Given the description of an element on the screen output the (x, y) to click on. 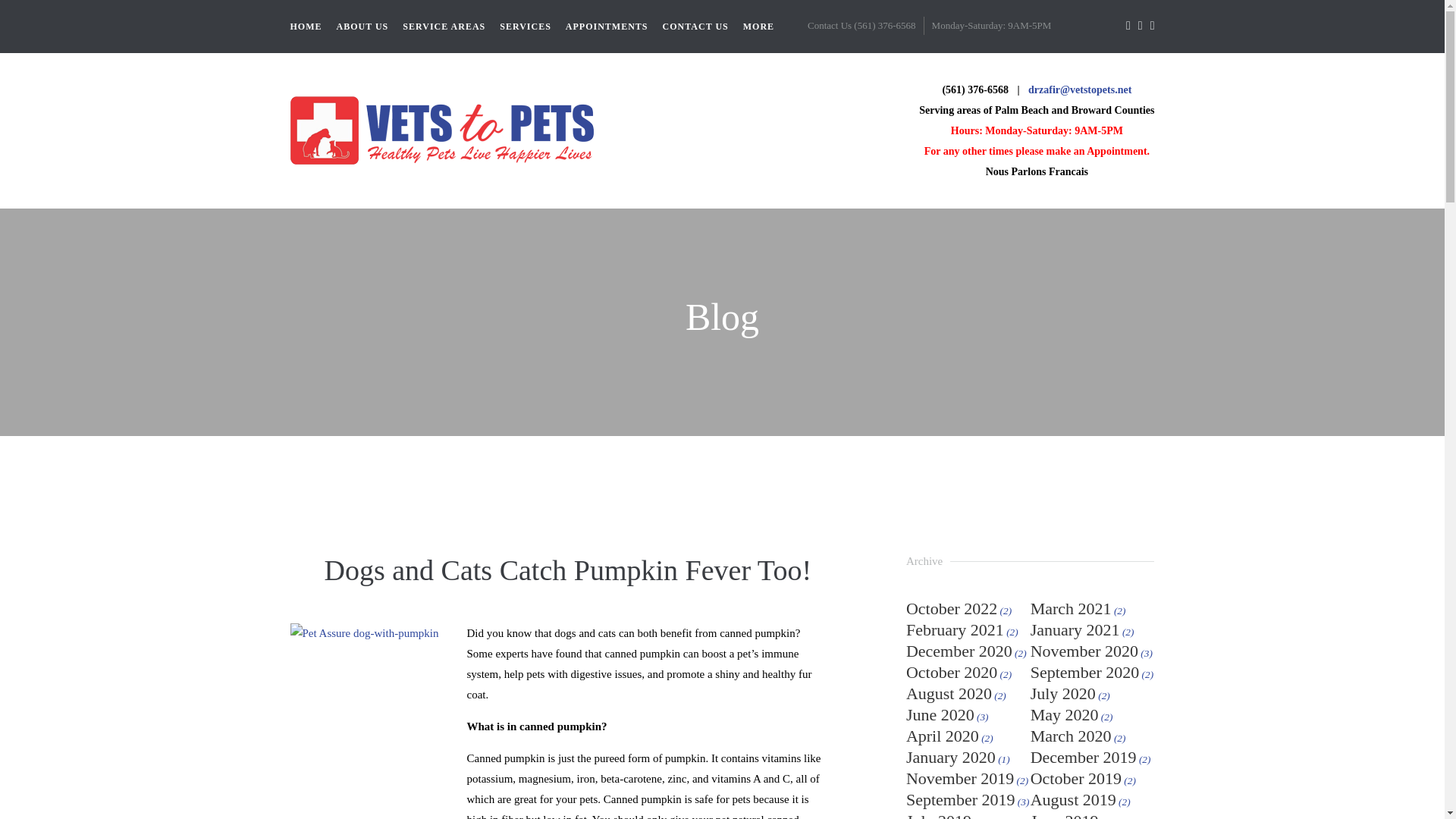
HOME (305, 26)
SERVICE AREAS (443, 26)
ABOUT US (362, 26)
SERVICES (525, 26)
MORE (758, 26)
October 2022 (951, 608)
March 2021 (1071, 608)
CONTACT US (695, 26)
APPOINTMENTS (606, 26)
